Given the description of an element on the screen output the (x, y) to click on. 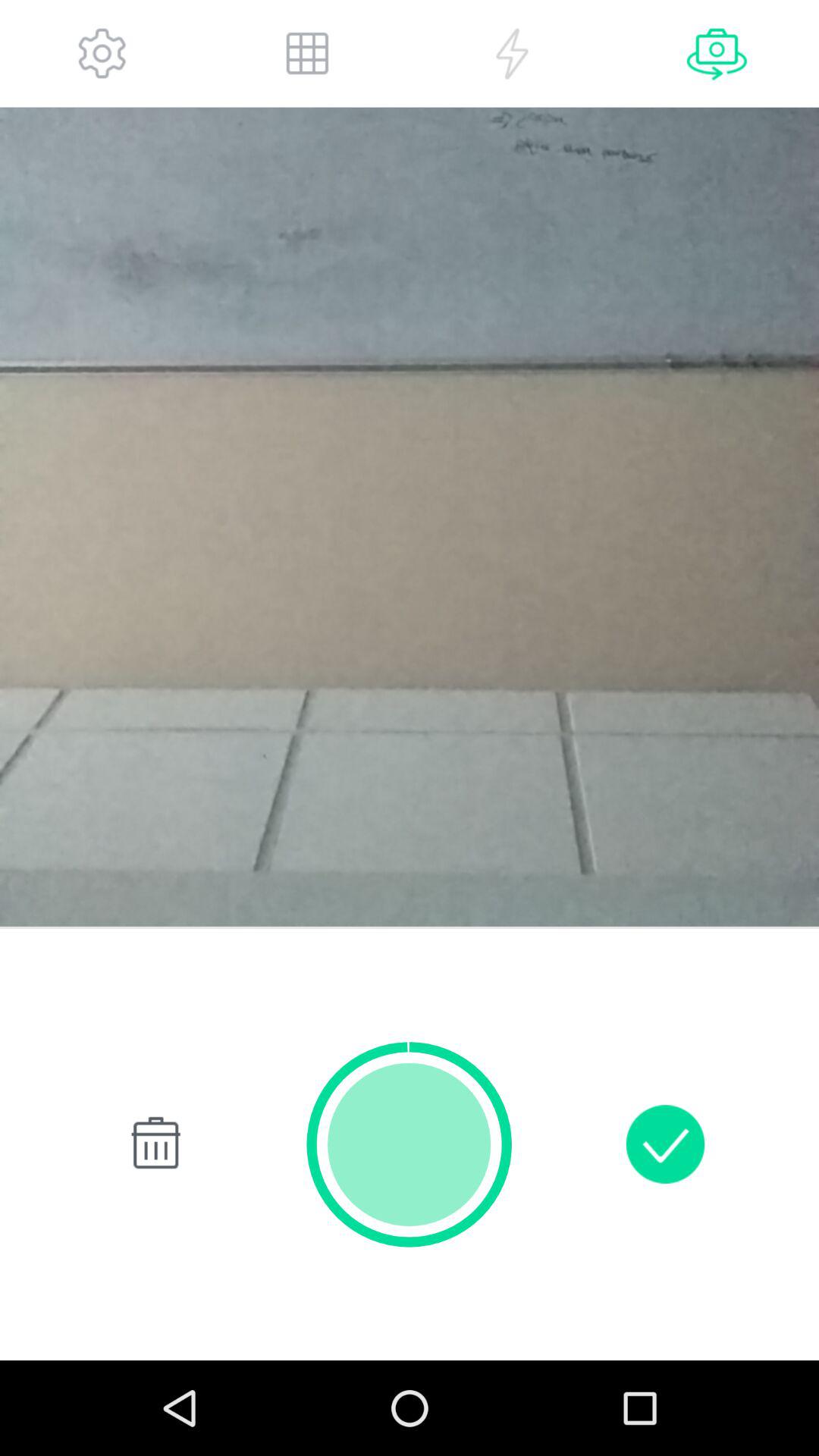
delete picture (152, 1144)
